Given the description of an element on the screen output the (x, y) to click on. 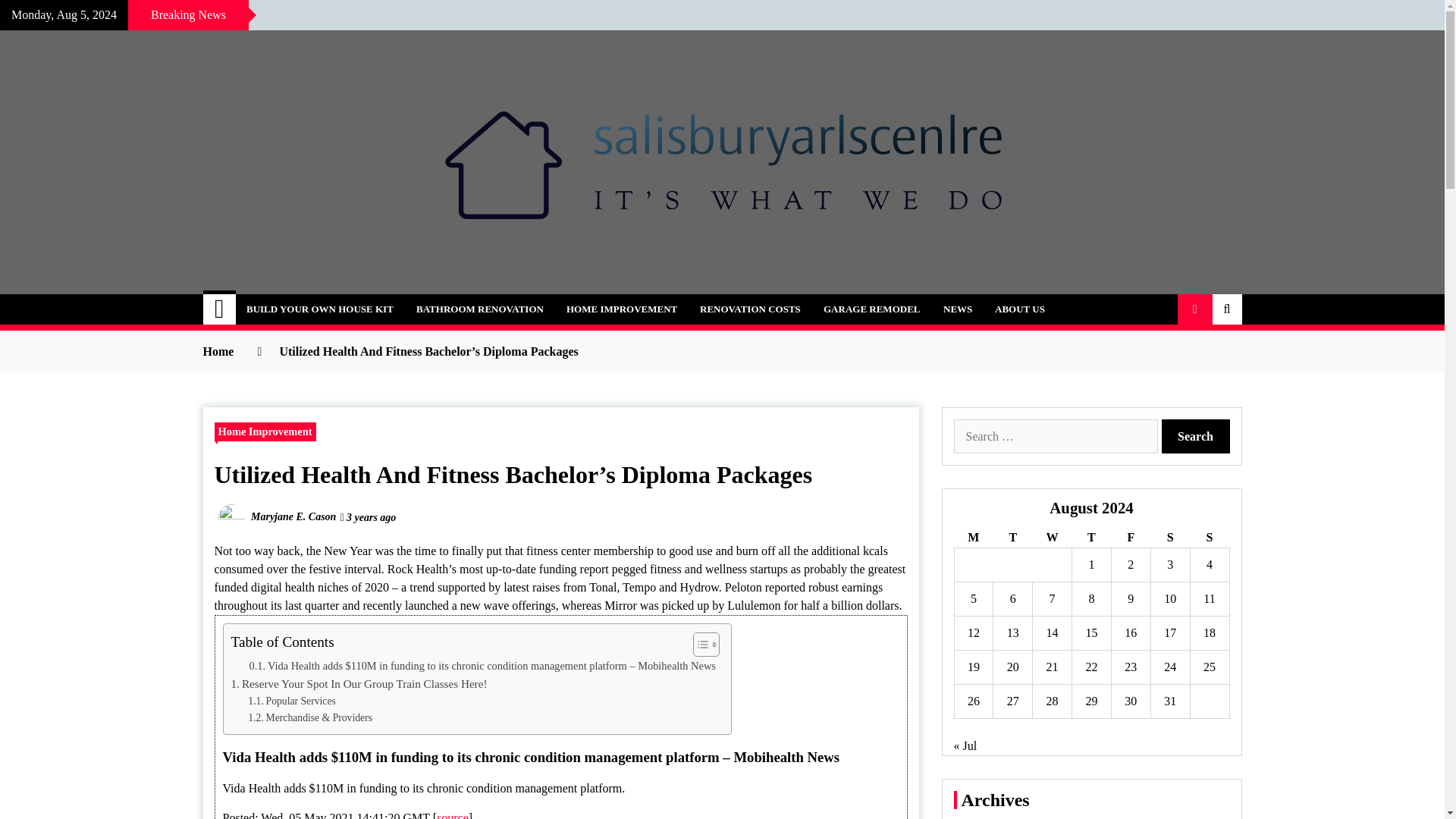
ABOUT US (1020, 309)
NEWS (957, 309)
Popular Services (291, 701)
HOME IMPROVEMENT (621, 309)
Wednesday (1051, 537)
Reserve Your Spot In Our Group Train Classes Here! (358, 683)
Search (1195, 436)
Thursday (1091, 537)
BUILD YOUR OWN HOUSE KIT (319, 309)
GARAGE REMODEL (871, 309)
Search (1195, 436)
Friday (1130, 537)
Saturday (1169, 537)
salisburyarlscenlre (339, 300)
Tuesday (1012, 537)
